Given the description of an element on the screen output the (x, y) to click on. 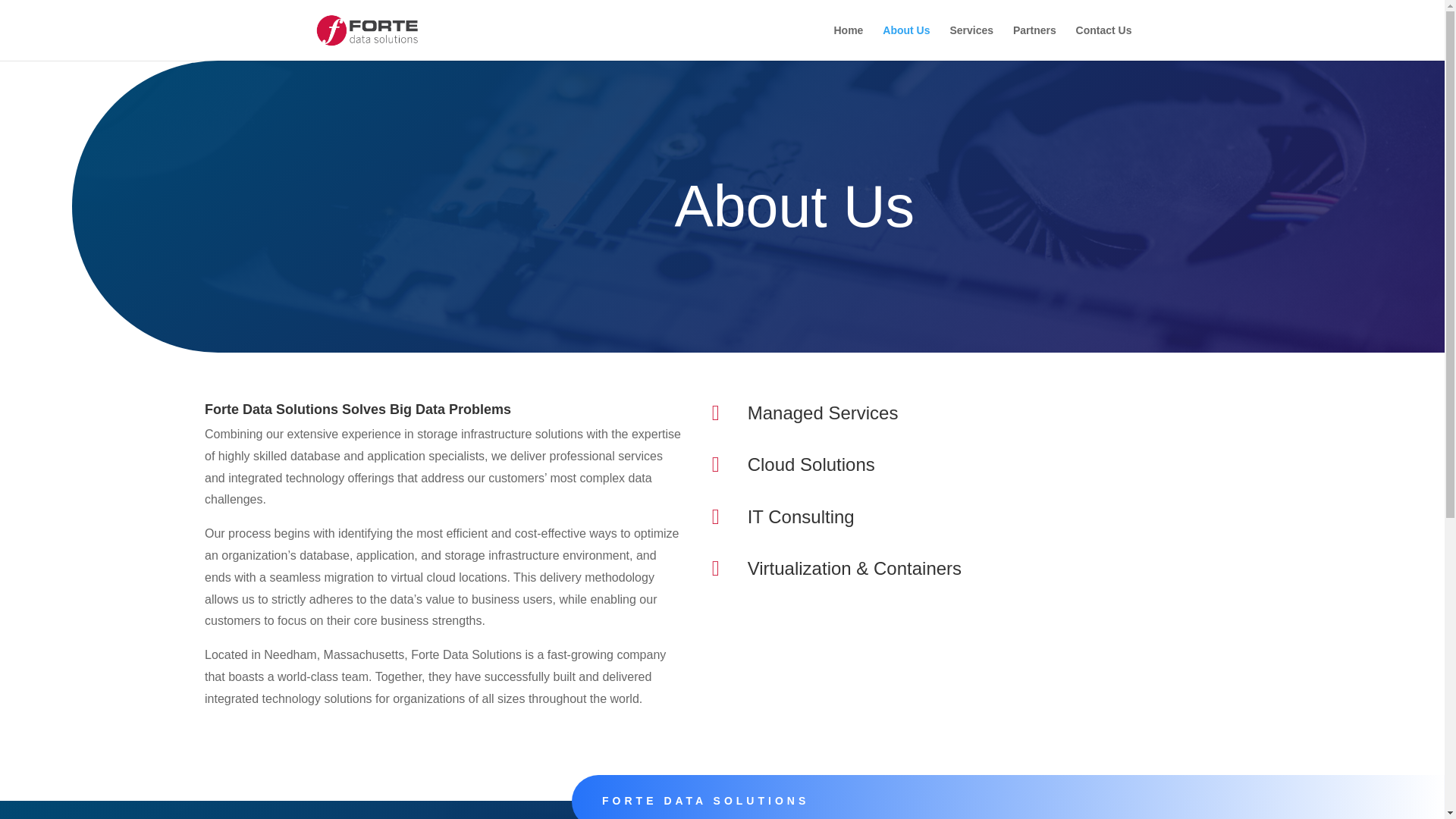
Contact Us (1103, 42)
About Us (906, 42)
FORTE DATA SOLUTIONS (705, 800)
Services (970, 42)
Partners (1035, 42)
